Given the description of an element on the screen output the (x, y) to click on. 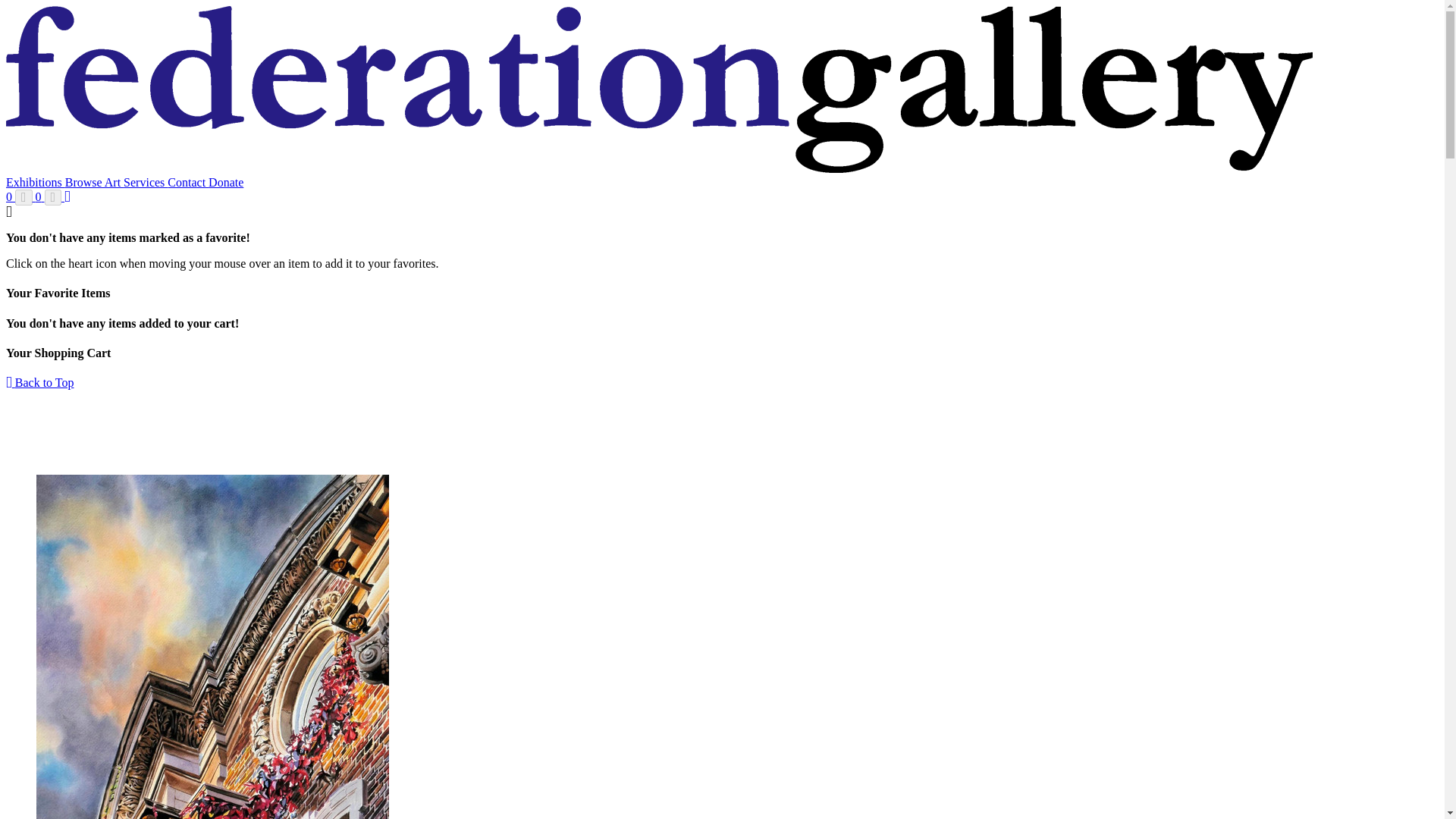
0 (19, 196)
Services (145, 182)
Back to Top (39, 382)
Contact (187, 182)
Arts and Vines (212, 647)
Browse Art (94, 182)
0 (49, 196)
Exhibitions (35, 182)
Donate (225, 182)
